Given the description of an element on the screen output the (x, y) to click on. 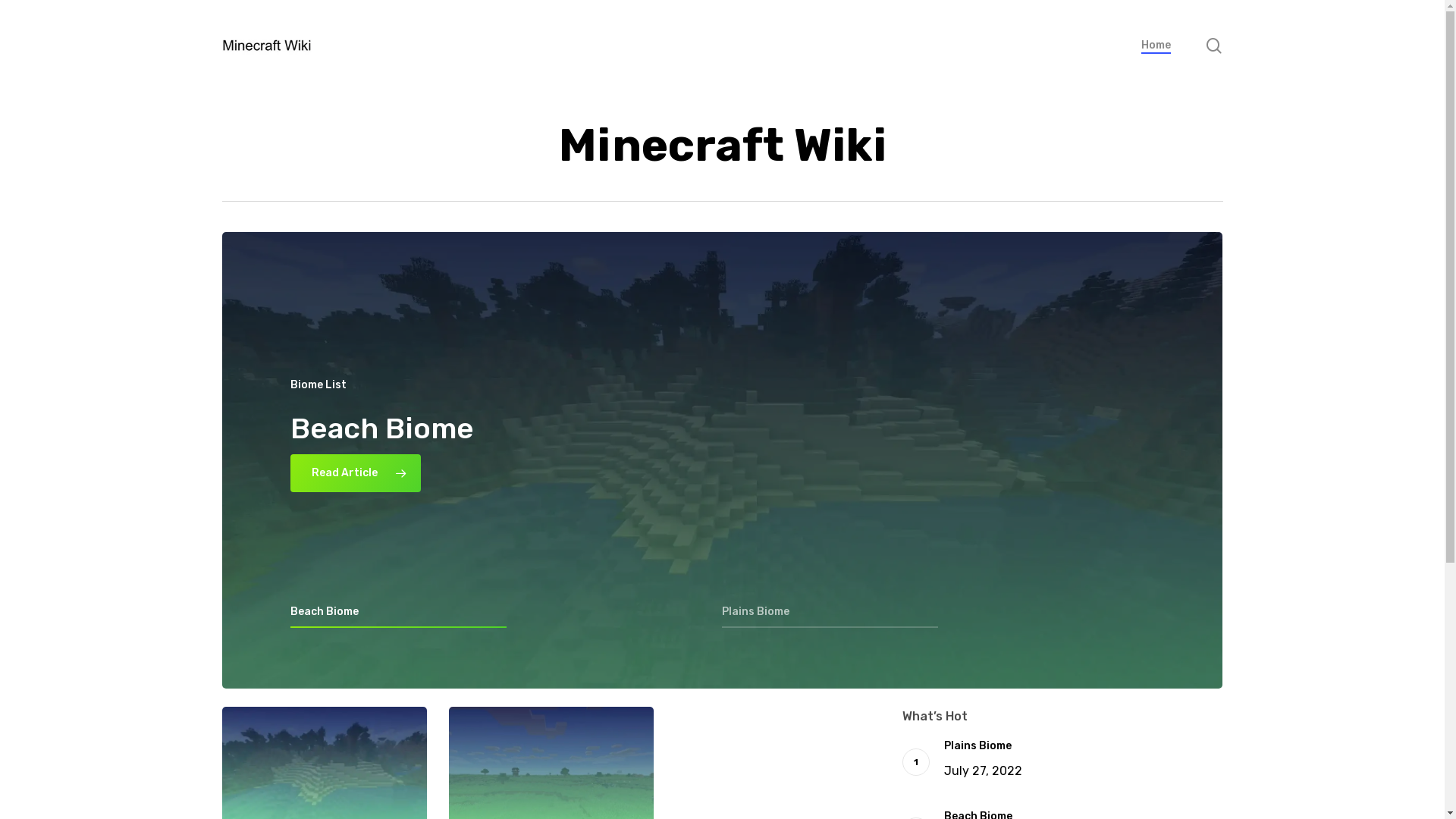
Read Article Element type: text (355, 473)
search Element type: text (1213, 45)
Beach
Biome Element type: text (381, 424)
Plains Biome
July 27, 2022 Element type: text (1083, 760)
Privacy Policy Element type: text (781, 756)
Biome List Element type: text (318, 384)
Home Element type: text (1155, 45)
